Given the description of an element on the screen output the (x, y) to click on. 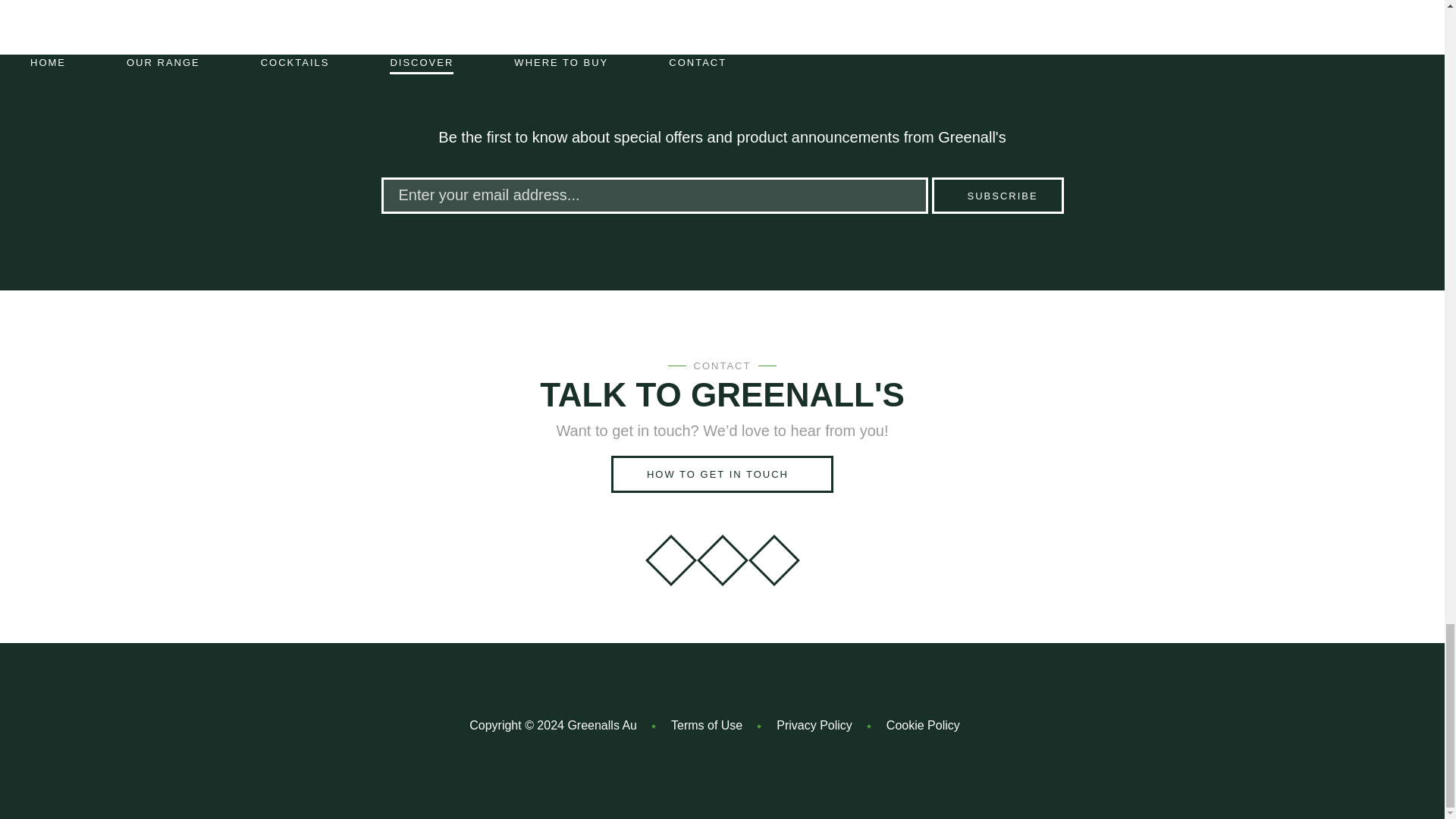
Find us on Twitter (766, 552)
Find us on Instagram (663, 552)
Find us on Instagram (663, 552)
HOW TO GET IN TOUCH (721, 474)
Privacy Policy (813, 725)
Find us on Facebook (715, 552)
Find us on Facebook (715, 552)
Find us on Twitter (766, 552)
Cookie Policy (922, 725)
Terms of Use (706, 725)
Subscribe (996, 195)
Subscribe (996, 195)
